Given the description of an element on the screen output the (x, y) to click on. 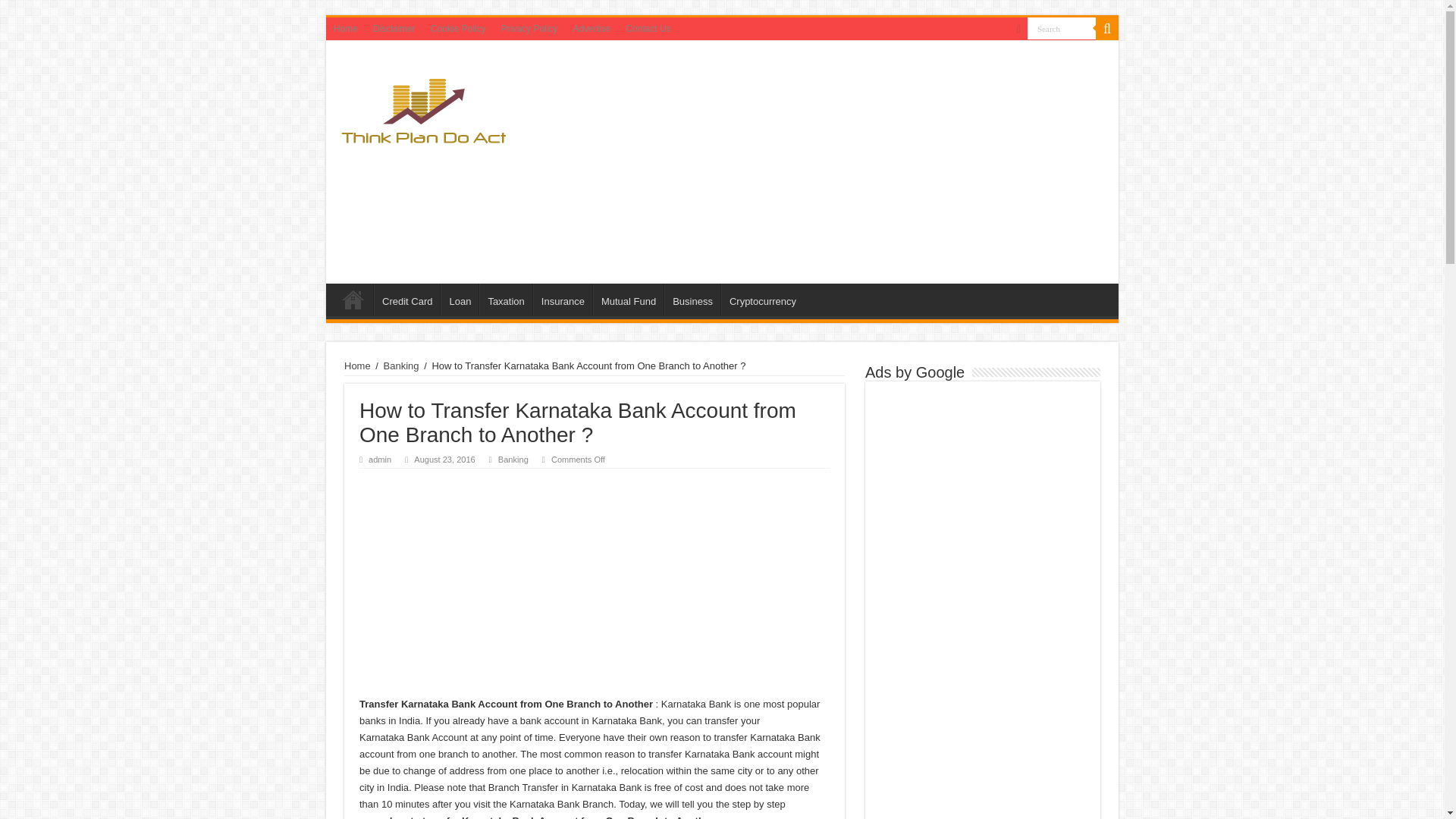
Contact Us (647, 28)
Taxation (505, 299)
Disclaimer (394, 28)
Advertisement (594, 581)
Banking (401, 365)
Home (357, 365)
admin (379, 459)
Privacy Policy (529, 28)
Home (352, 299)
Cryptocurrency (761, 299)
Advertisement (830, 162)
Banking (512, 459)
Loan (460, 299)
Insurance (562, 299)
Search (1061, 28)
